Given the description of an element on the screen output the (x, y) to click on. 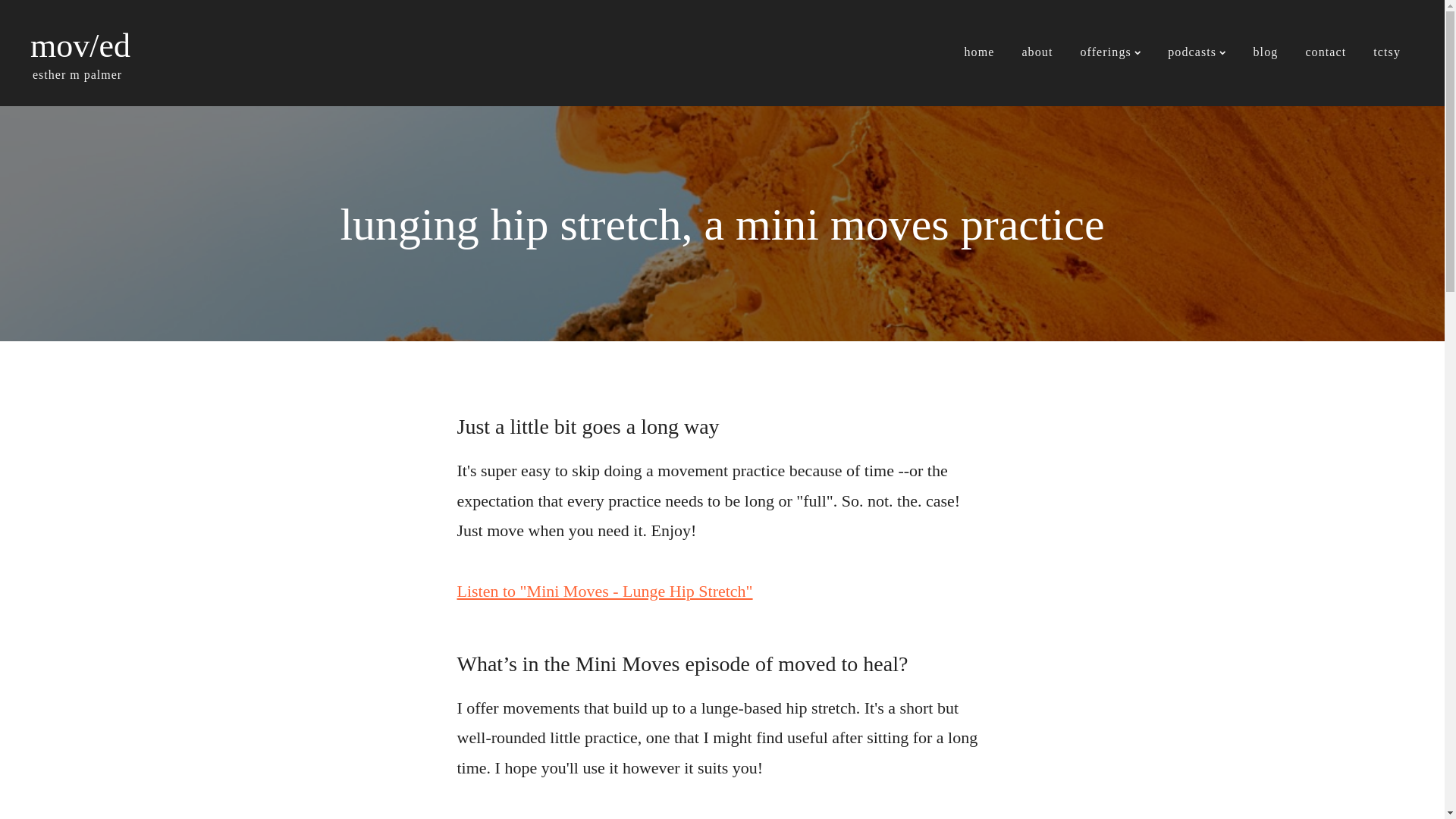
podcasts (1196, 53)
offerings (1109, 53)
Listen to "Mini Moves - Lunge Hip Stretch" (604, 590)
blog (1266, 53)
home (978, 53)
tctsy (1386, 53)
about (1036, 53)
contact (1325, 53)
